Given the description of an element on the screen output the (x, y) to click on. 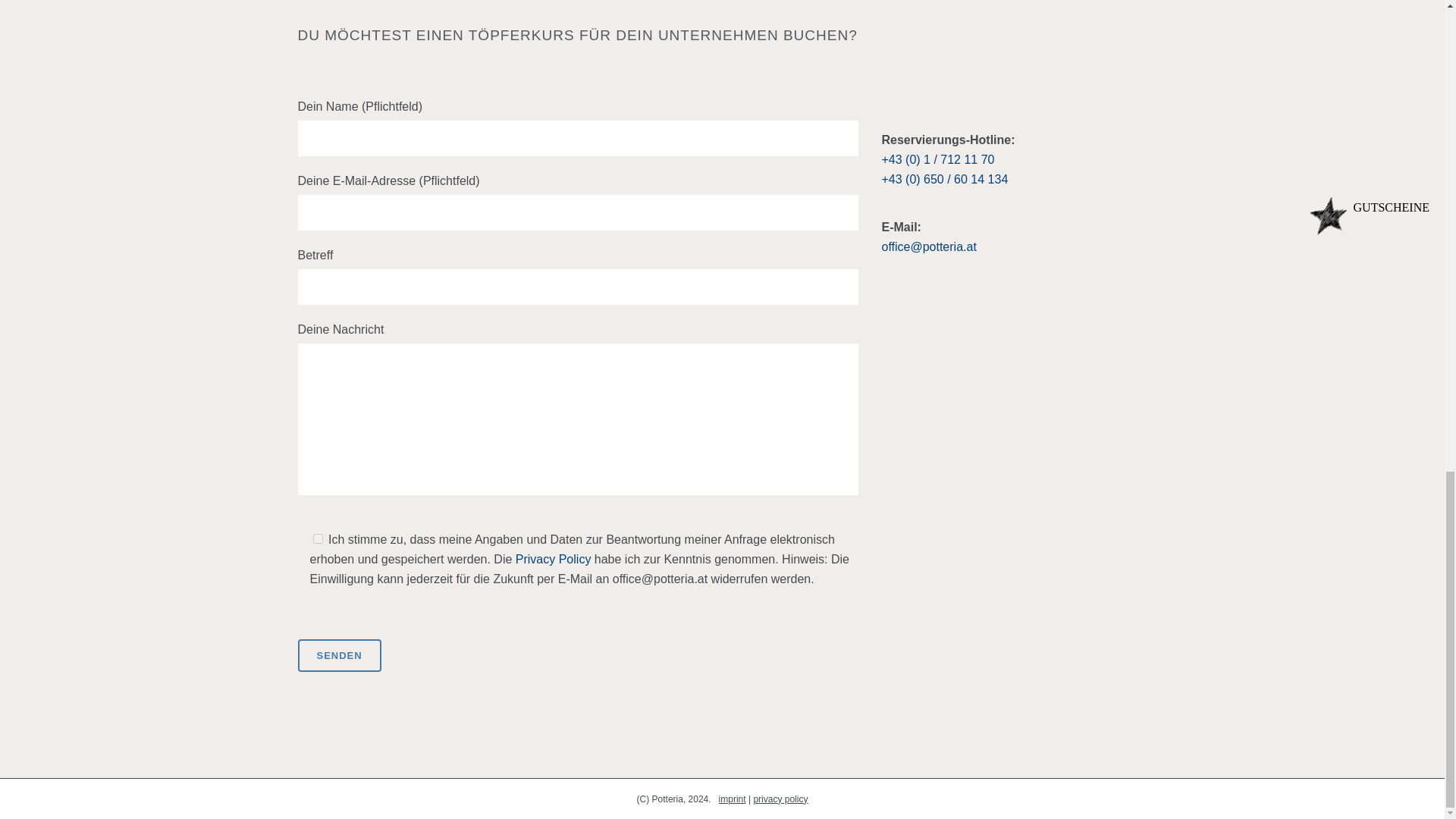
Senden (338, 655)
privacy policy (780, 798)
imprint (732, 798)
Senden (338, 655)
Privacy Policy (553, 558)
1 (317, 538)
